Given the description of an element on the screen output the (x, y) to click on. 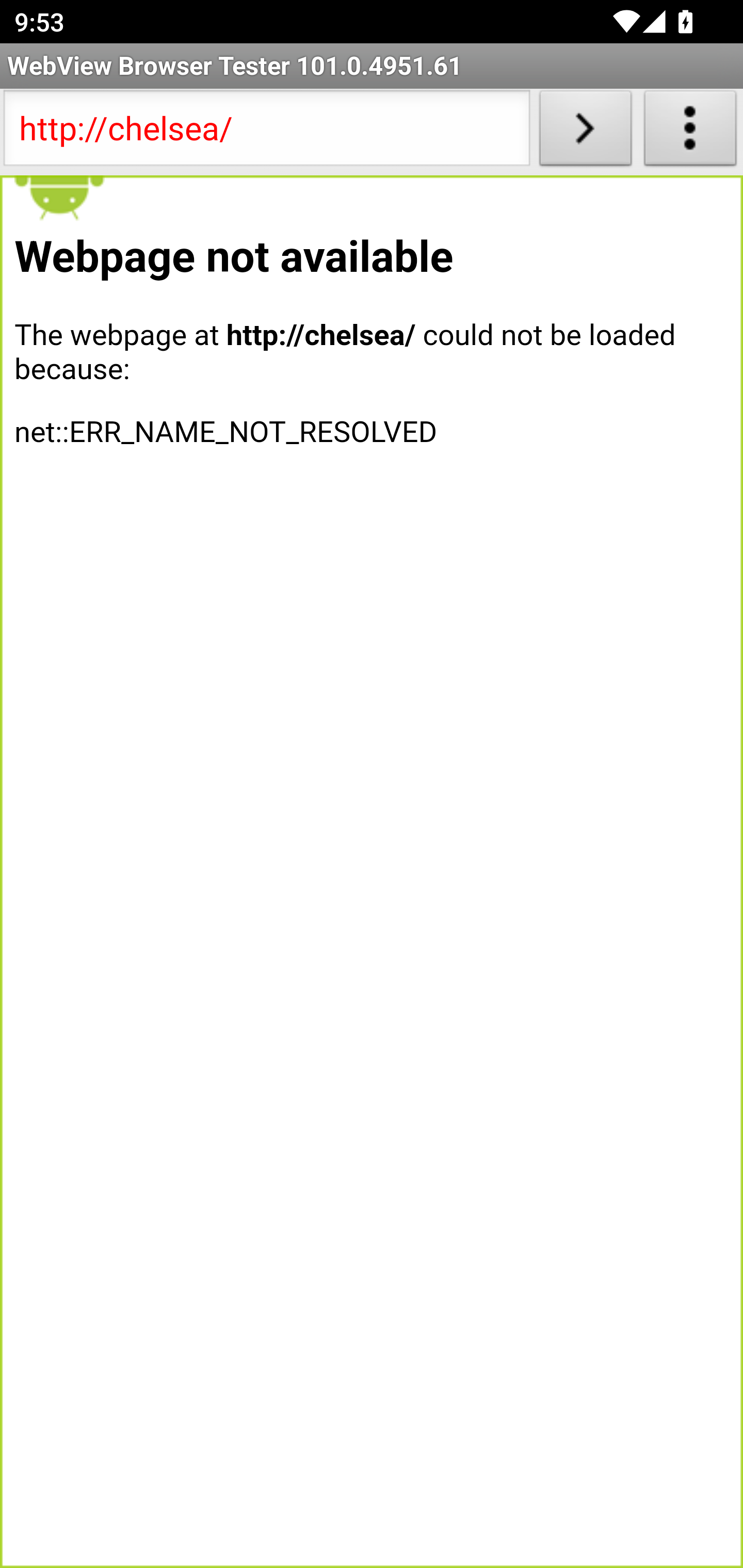
http://chelsea/ (266, 132)
Load URL (585, 132)
About WebView (690, 132)
